Given the description of an element on the screen output the (x, y) to click on. 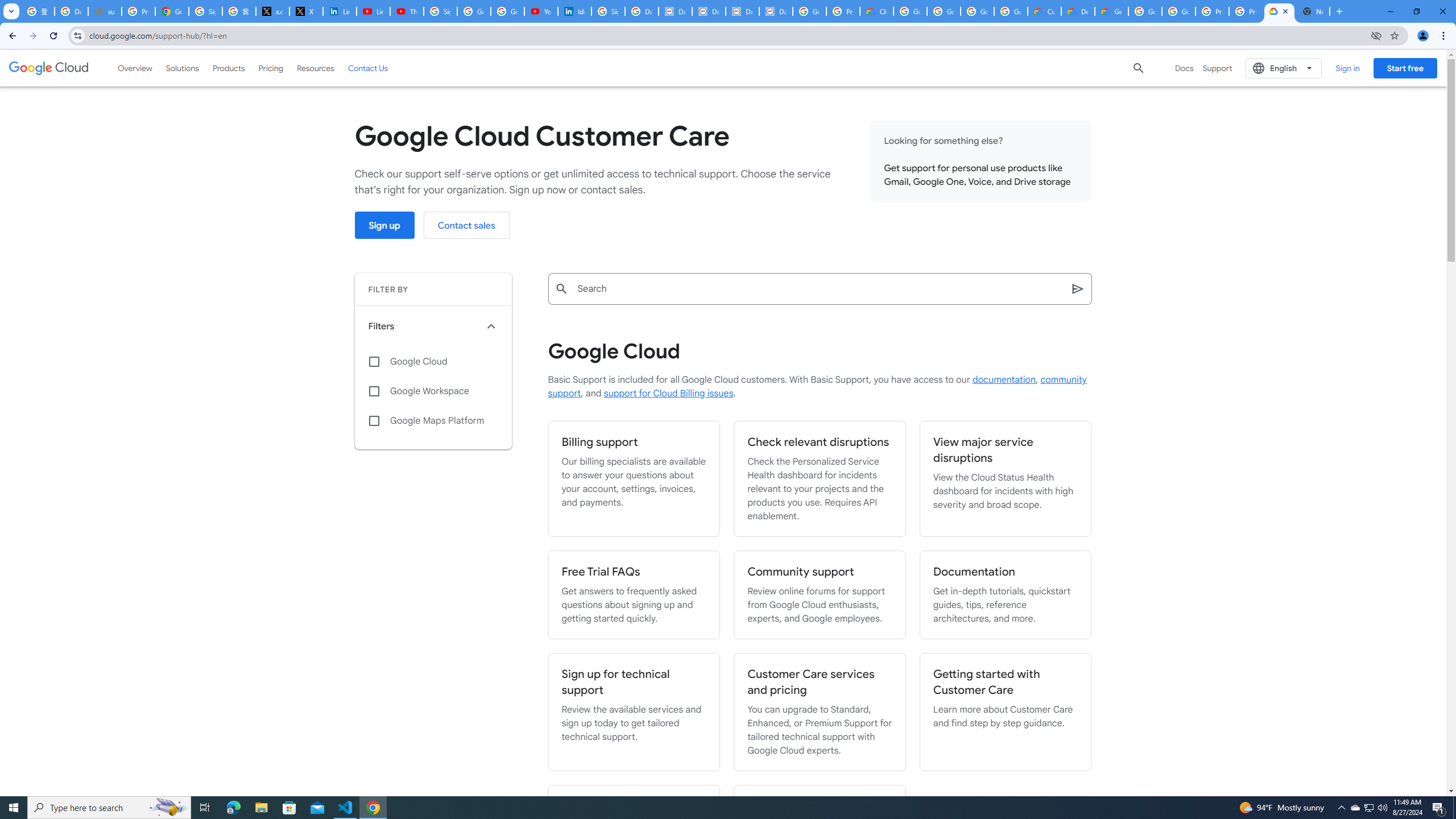
Google Cloud Platform (1144, 11)
